Given the description of an element on the screen output the (x, y) to click on. 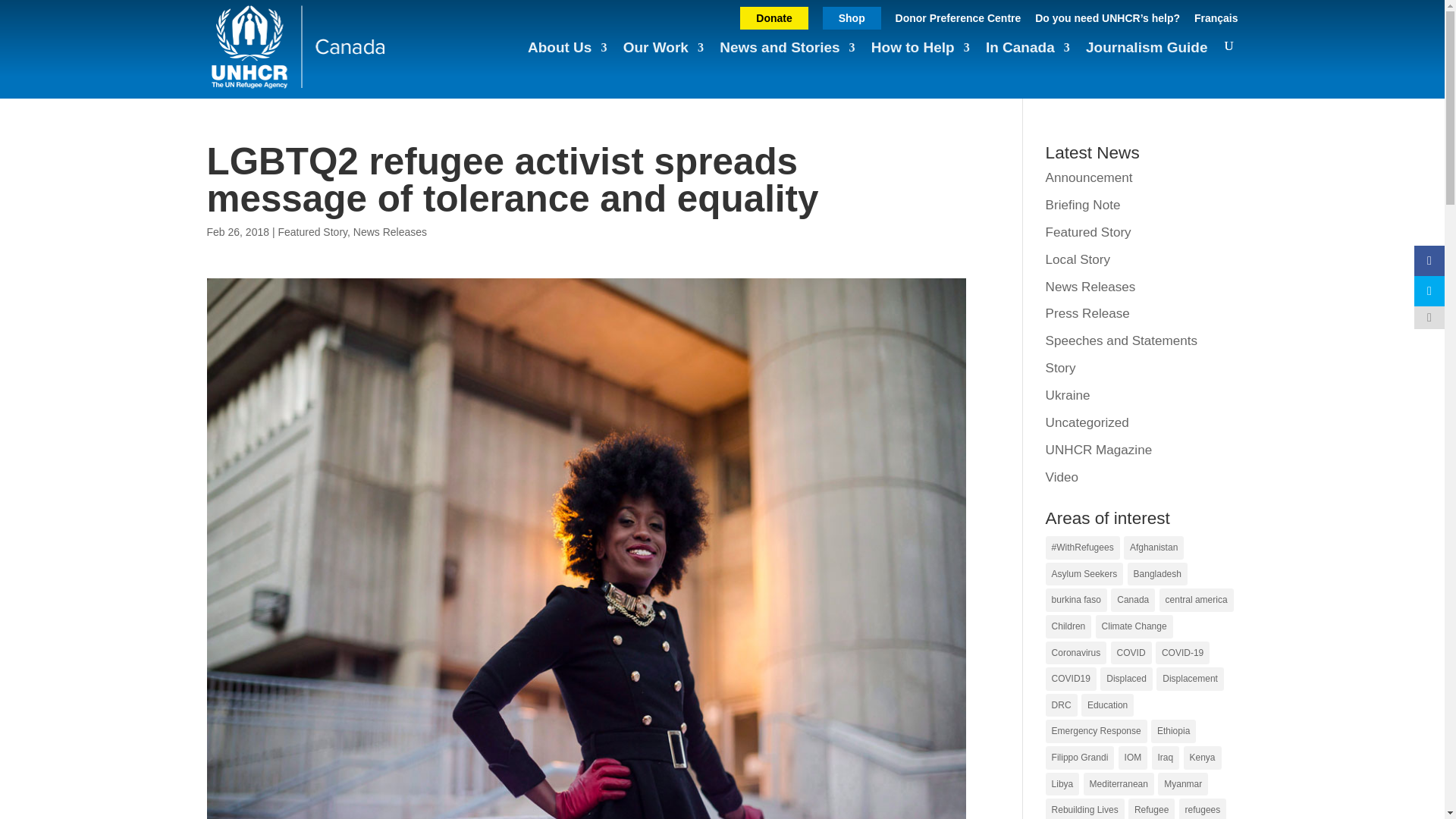
Our Work (663, 54)
News and Stories (786, 54)
Donate (773, 17)
Shop (851, 17)
Donor Preference Centre (958, 22)
About Us (567, 54)
